Given the description of an element on the screen output the (x, y) to click on. 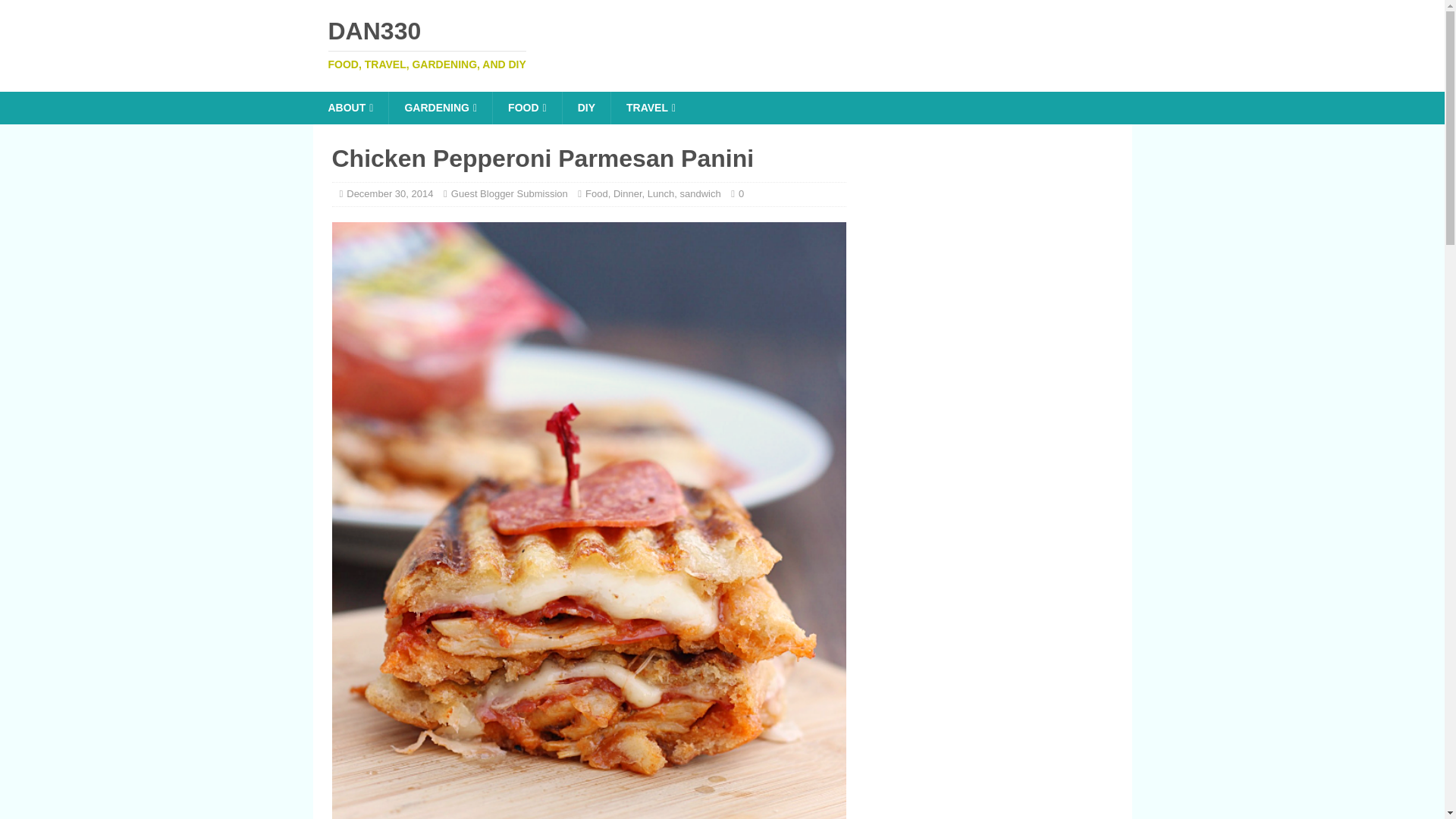
TRAVEL (650, 107)
Dan330 (721, 44)
Food (596, 193)
sandwich (699, 193)
FOOD (527, 107)
ABOUT (350, 107)
Lunch (660, 193)
Dinner (627, 193)
December 30, 2014 (389, 193)
DIY (586, 107)
